Given the description of an element on the screen output the (x, y) to click on. 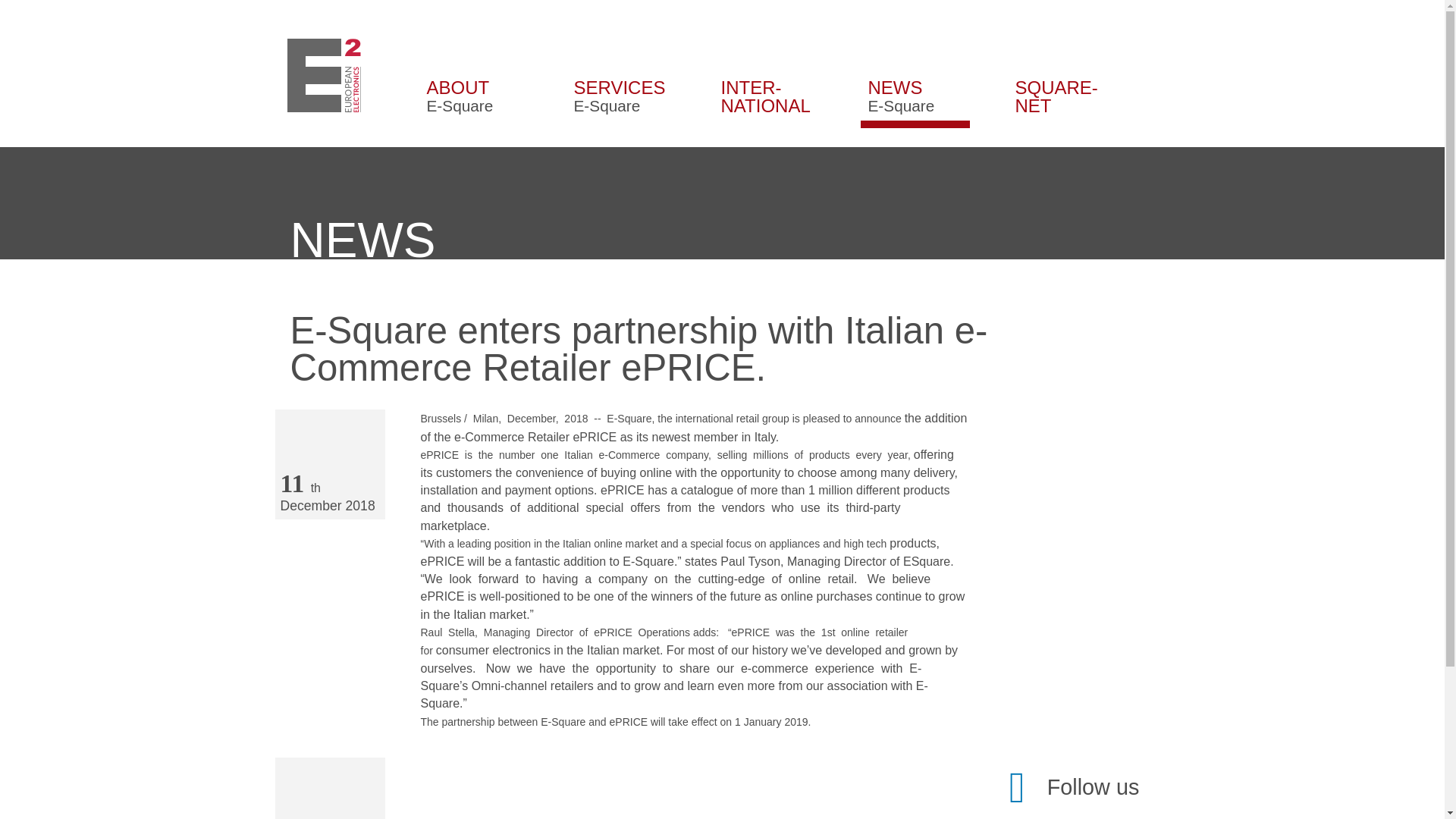
SERVICES E-Square (620, 74)
E-Square (323, 74)
Back (329, 788)
SQUARE- NET (473, 74)
INTER-NATIONAL (914, 74)
NEWS E-Square (1061, 74)
ABOUT E-Square (767, 74)
